Given the description of an element on the screen output the (x, y) to click on. 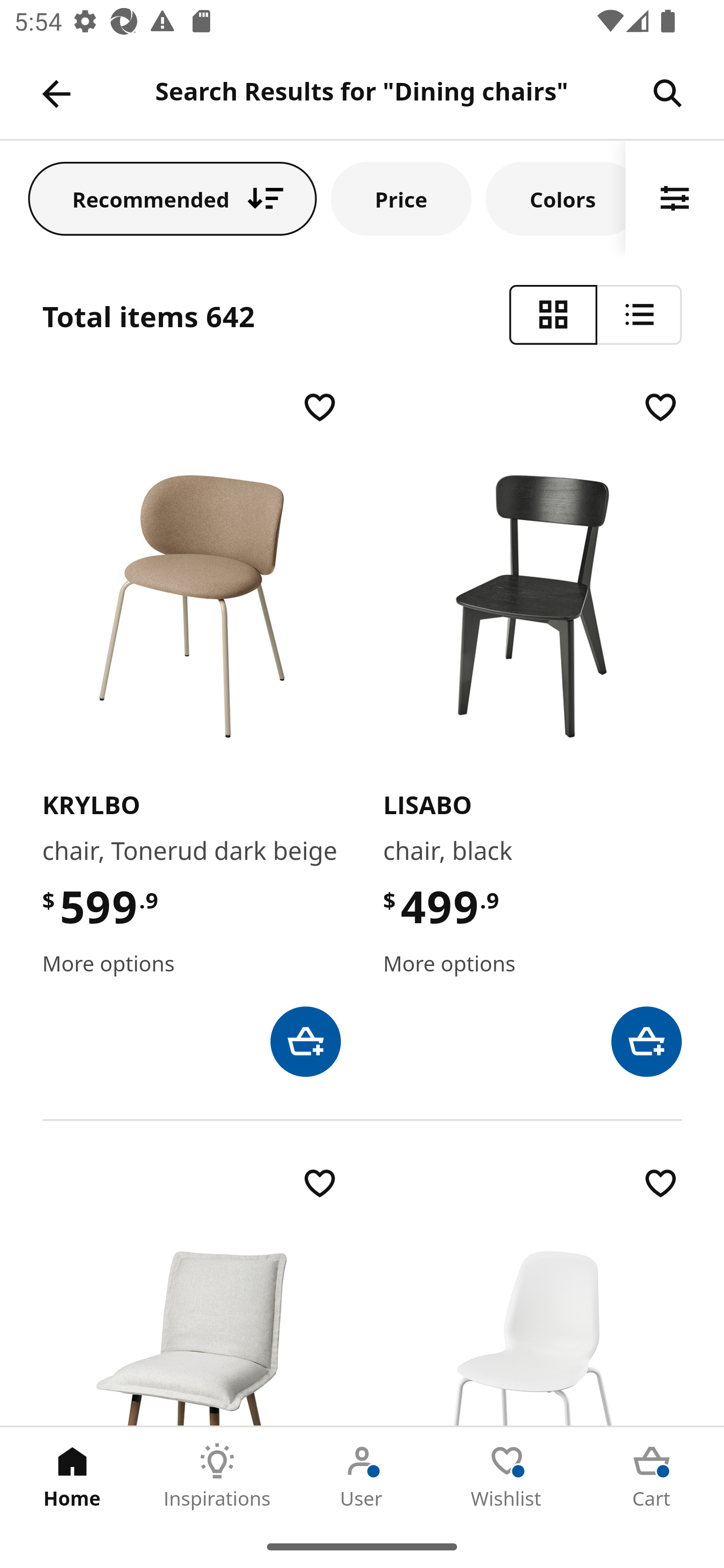
Recommended (172, 198)
Price (400, 198)
Colors (555, 198)
​L​I​S​A​B​O​
chair, black
$
499
.9
More options (532, 732)
Home
Tab 1 of 5 (72, 1476)
Inspirations
Tab 2 of 5 (216, 1476)
User
Tab 3 of 5 (361, 1476)
Wishlist
Tab 4 of 5 (506, 1476)
Cart
Tab 5 of 5 (651, 1476)
